Given the description of an element on the screen output the (x, y) to click on. 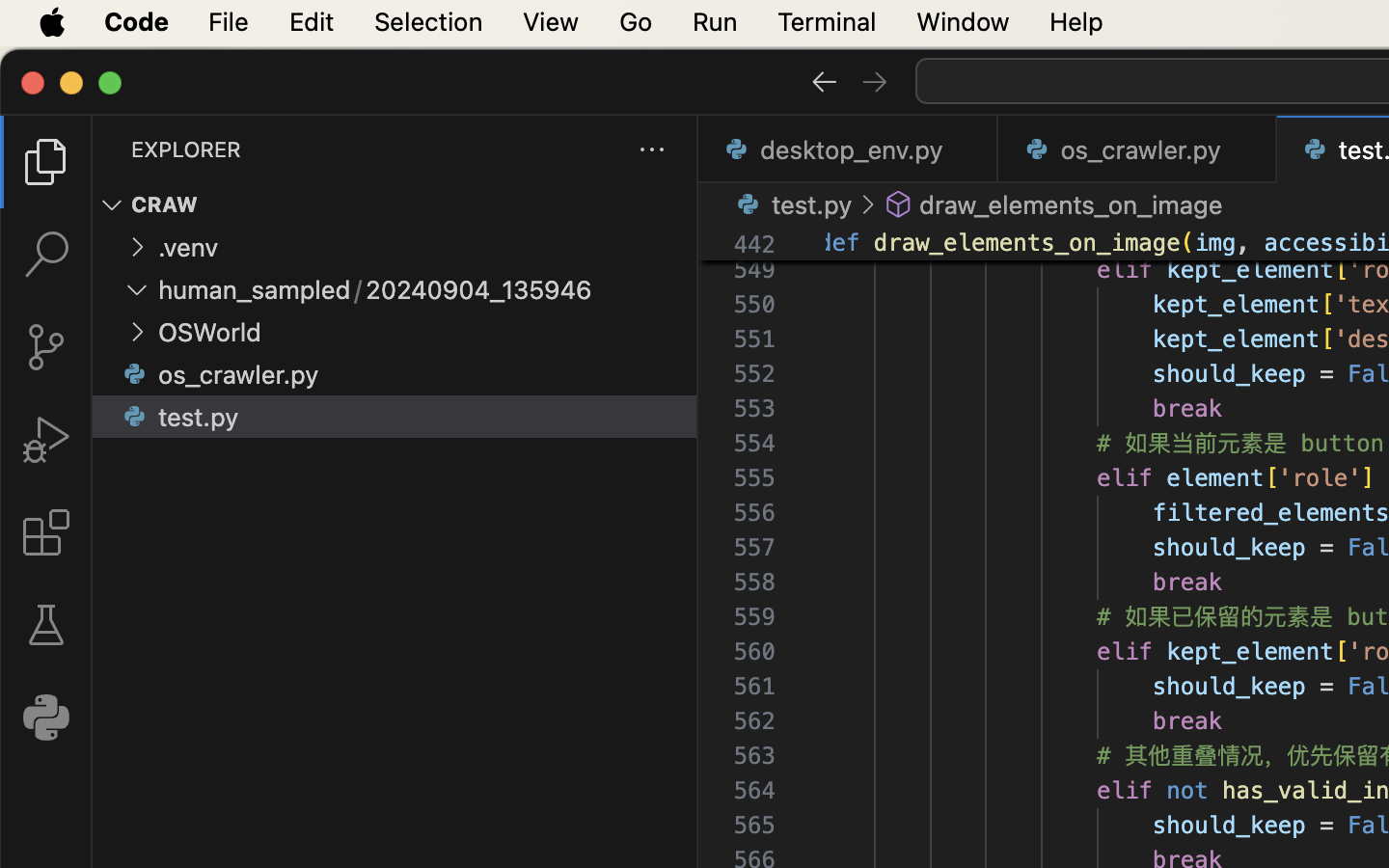
test.py  Element type: AXGroup (790, 204)
.venv Element type: AXStaticText (188, 247)
0  Element type: AXRadioButton (46, 346)
 Element type: AXStaticText (134, 416)
0 os_crawler.py   Element type: AXRadioButton (1138, 149)
